Given the description of an element on the screen output the (x, y) to click on. 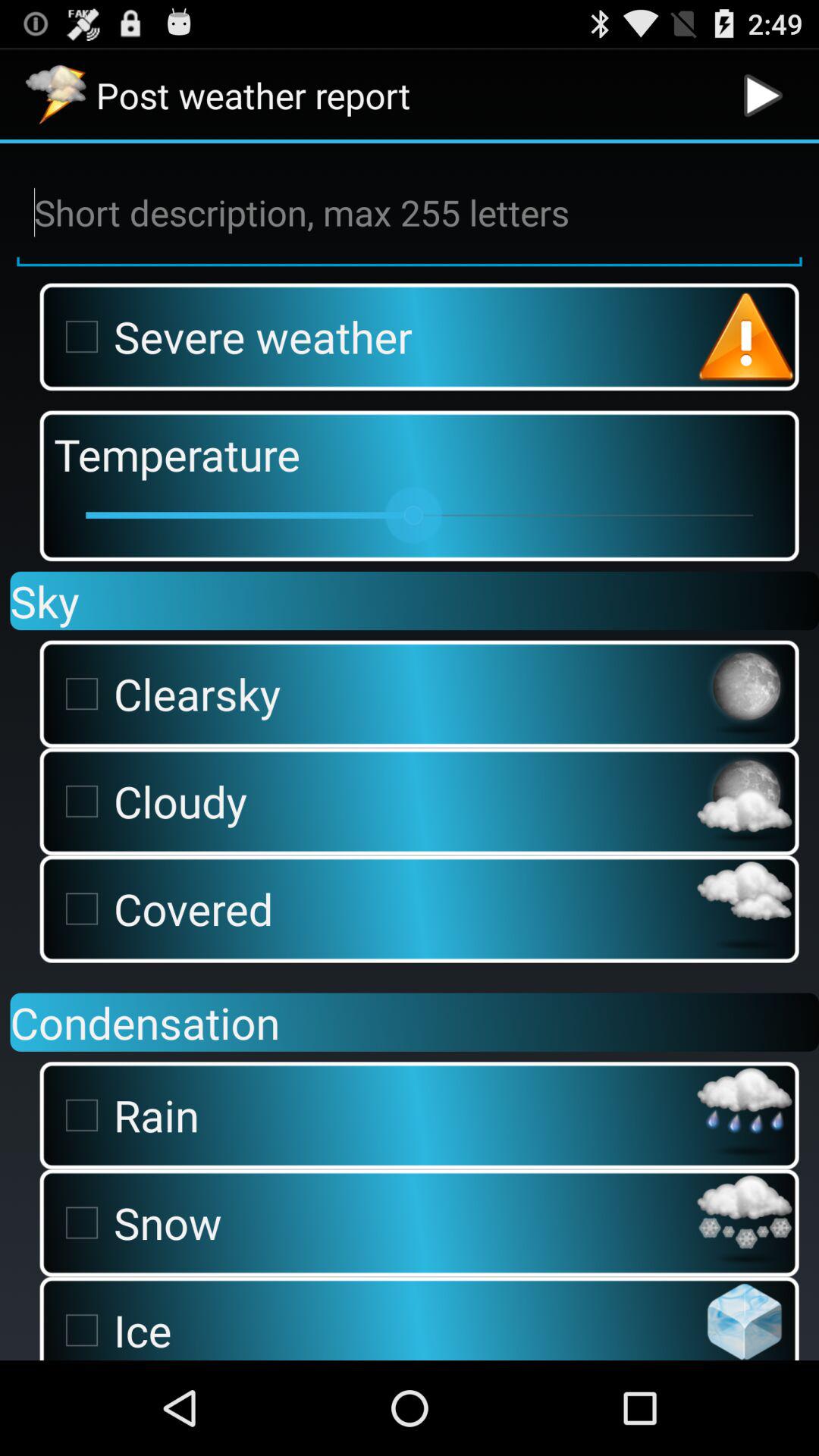
flip to the clearsky item (370, 693)
